Given the description of an element on the screen output the (x, y) to click on. 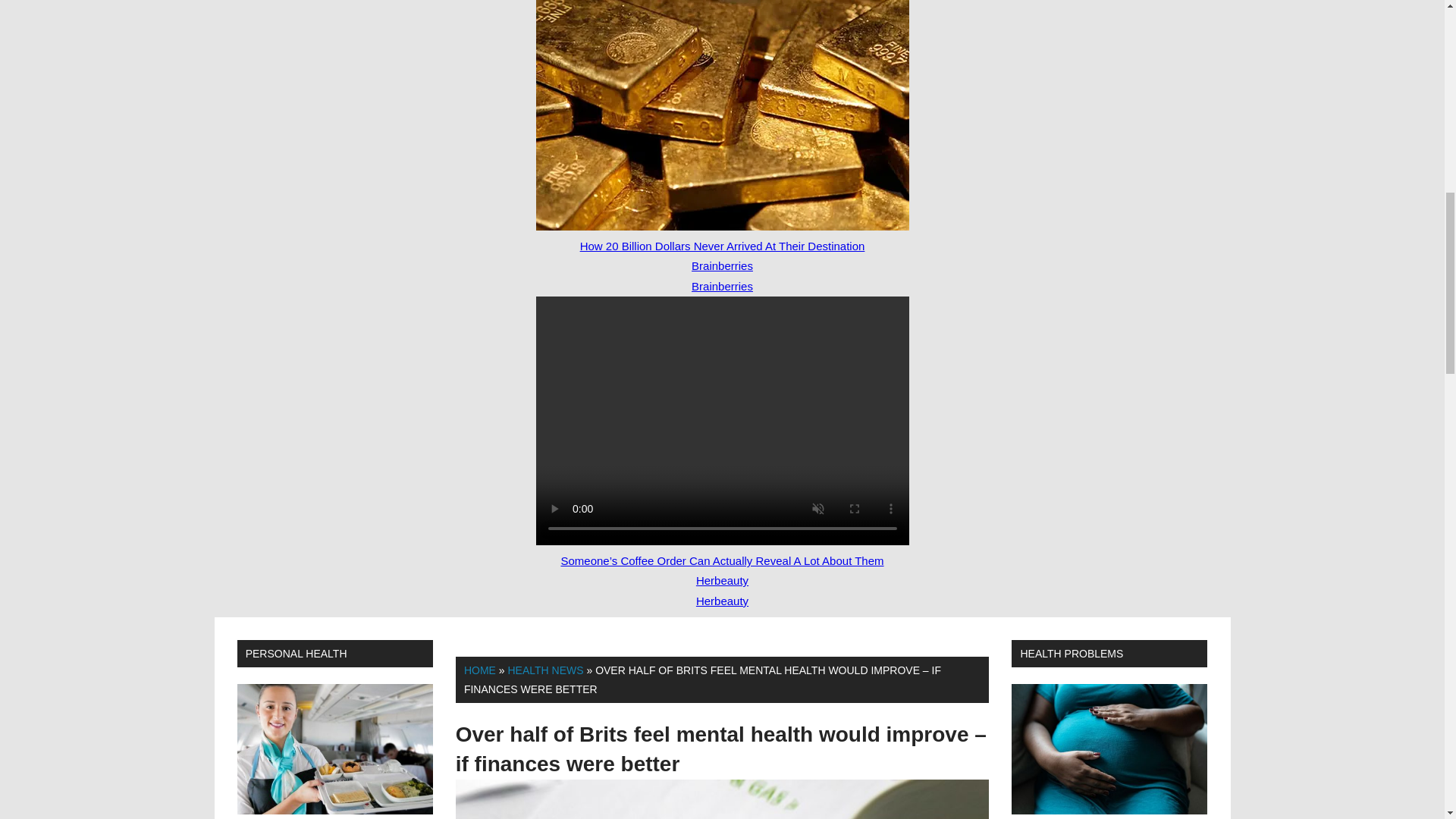
HEALTH NEWS (544, 670)
View all posts from category Health Problems (1071, 653)
PERSONAL HEALTH (296, 653)
View all posts from category Personal Health (296, 653)
HOME (480, 670)
